Given the description of an element on the screen output the (x, y) to click on. 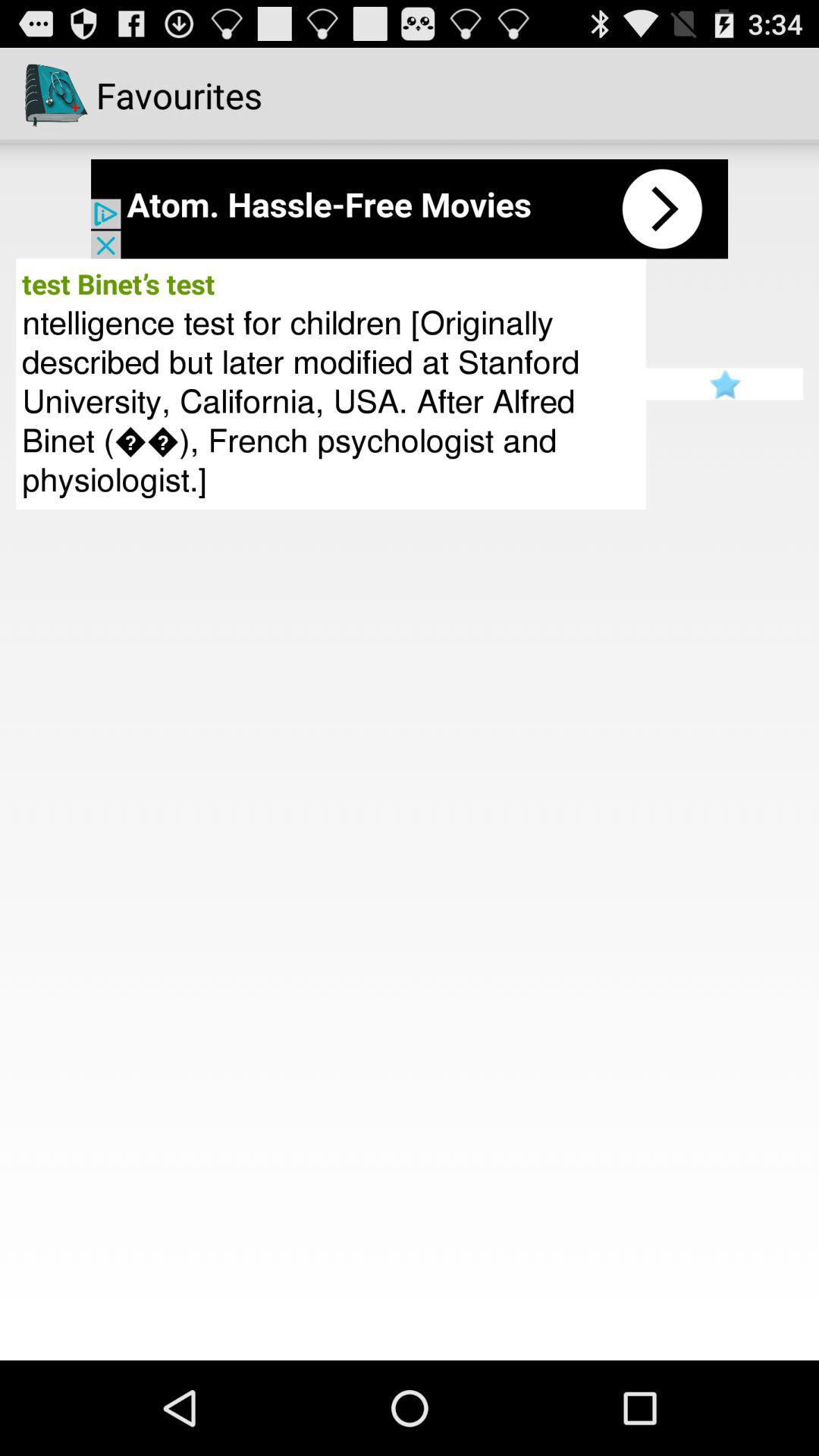
advertisement box (409, 208)
